Given the description of an element on the screen output the (x, y) to click on. 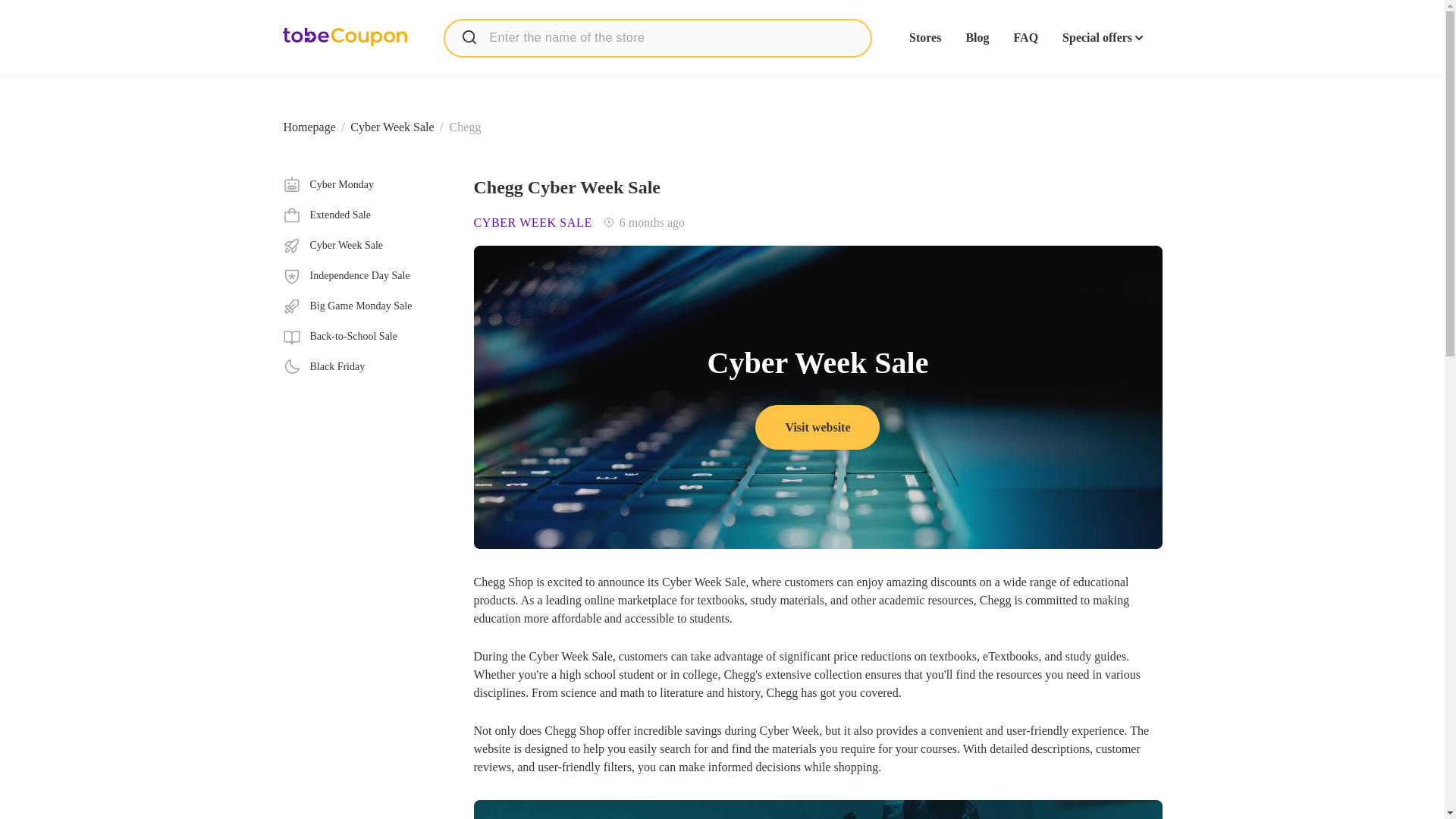
Cyber Monday (365, 185)
Cyber Week Sale (365, 245)
Visit website (817, 426)
CYBER WEEK SALE (532, 222)
Black Friday (365, 366)
Big Game Monday Sale (365, 306)
FAQ (1025, 37)
Cyber Week Sale (817, 807)
Independence Day Sale (391, 126)
Extended Sale (365, 275)
Search (365, 215)
Homepage (469, 37)
Stores (309, 126)
Back-to-School Sale (924, 37)
